Given the description of an element on the screen output the (x, y) to click on. 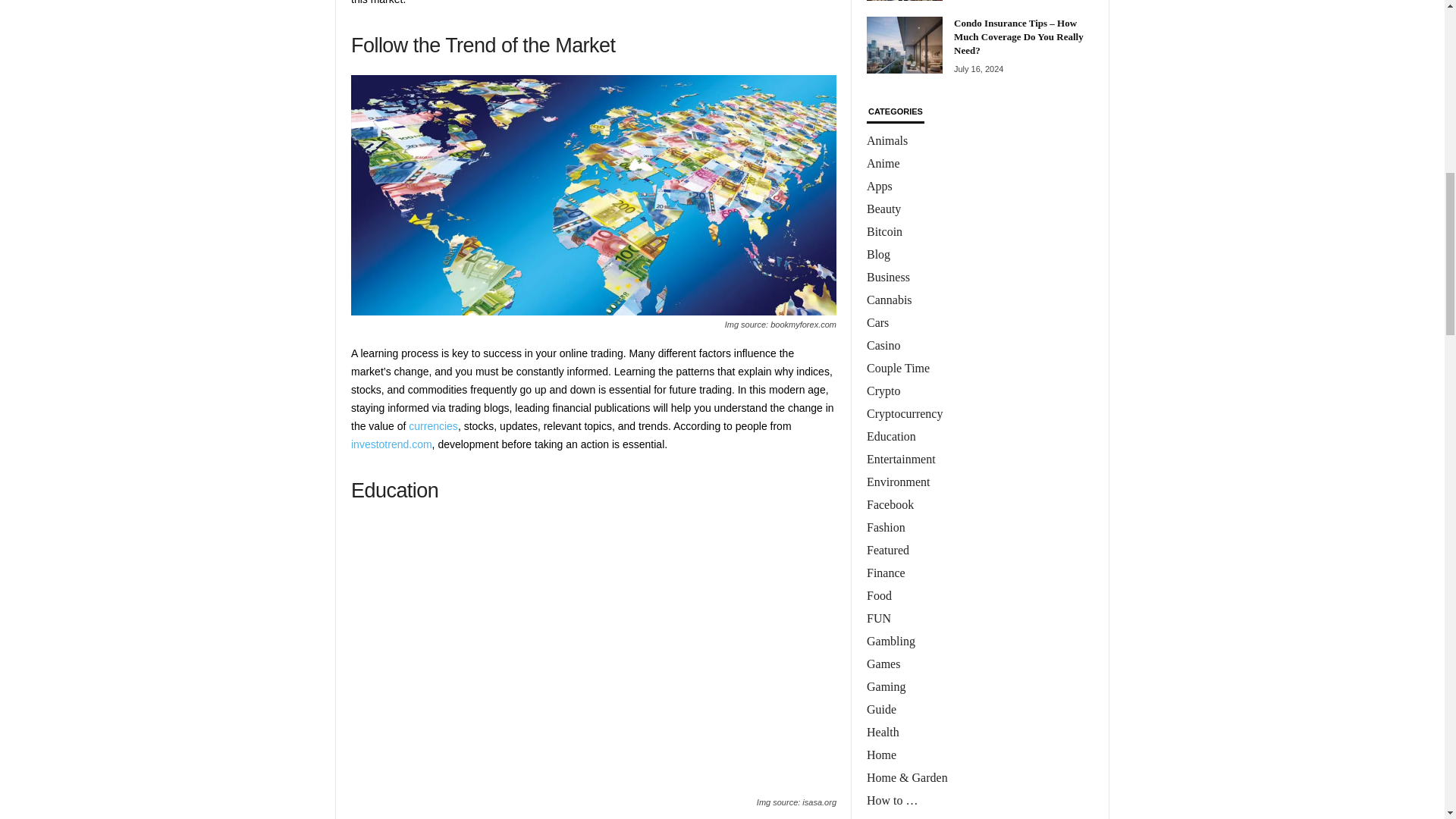
currencies (433, 426)
investotrend.com (391, 444)
